Given the description of an element on the screen output the (x, y) to click on. 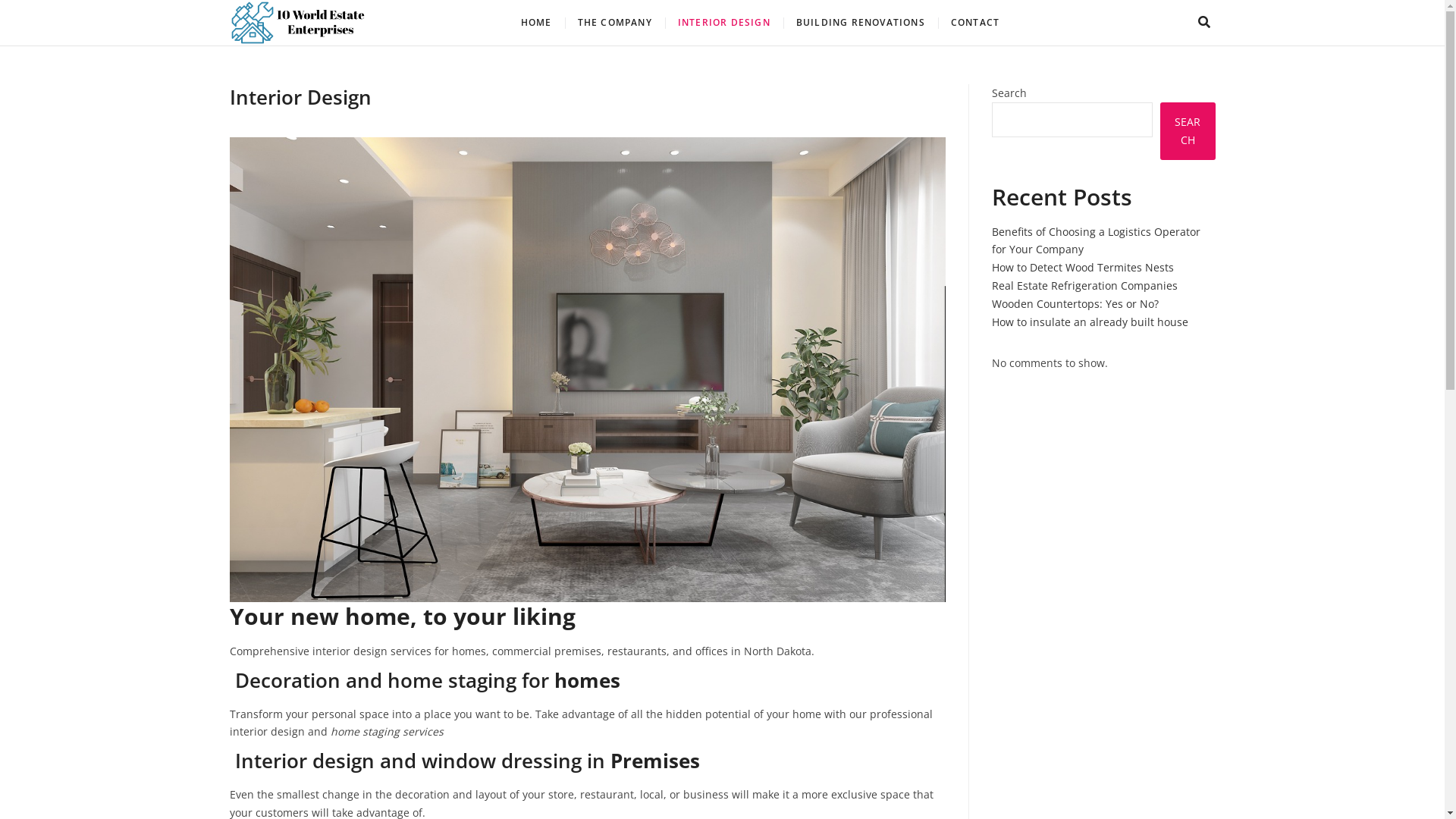
THE COMPANY Element type: text (614, 22)
Real Estate Refrigeration Companies Element type: text (1084, 285)
INTERIOR DESIGN Element type: text (723, 22)
Benefits of Choosing a Logistics Operator for Your Company Element type: text (1095, 240)
How to Detect Wood Termites Nests Element type: text (1082, 267)
CONTACT Element type: text (974, 22)
10 World Estate Enterprises Element type: text (547, 27)
Wooden Countertops: Yes or No? Element type: text (1074, 303)
HOME Element type: text (536, 22)
How to insulate an already built house Element type: text (1089, 321)
SEARCH Element type: text (1187, 131)
BUILDING RENOVATIONS Element type: text (860, 22)
